Given the description of an element on the screen output the (x, y) to click on. 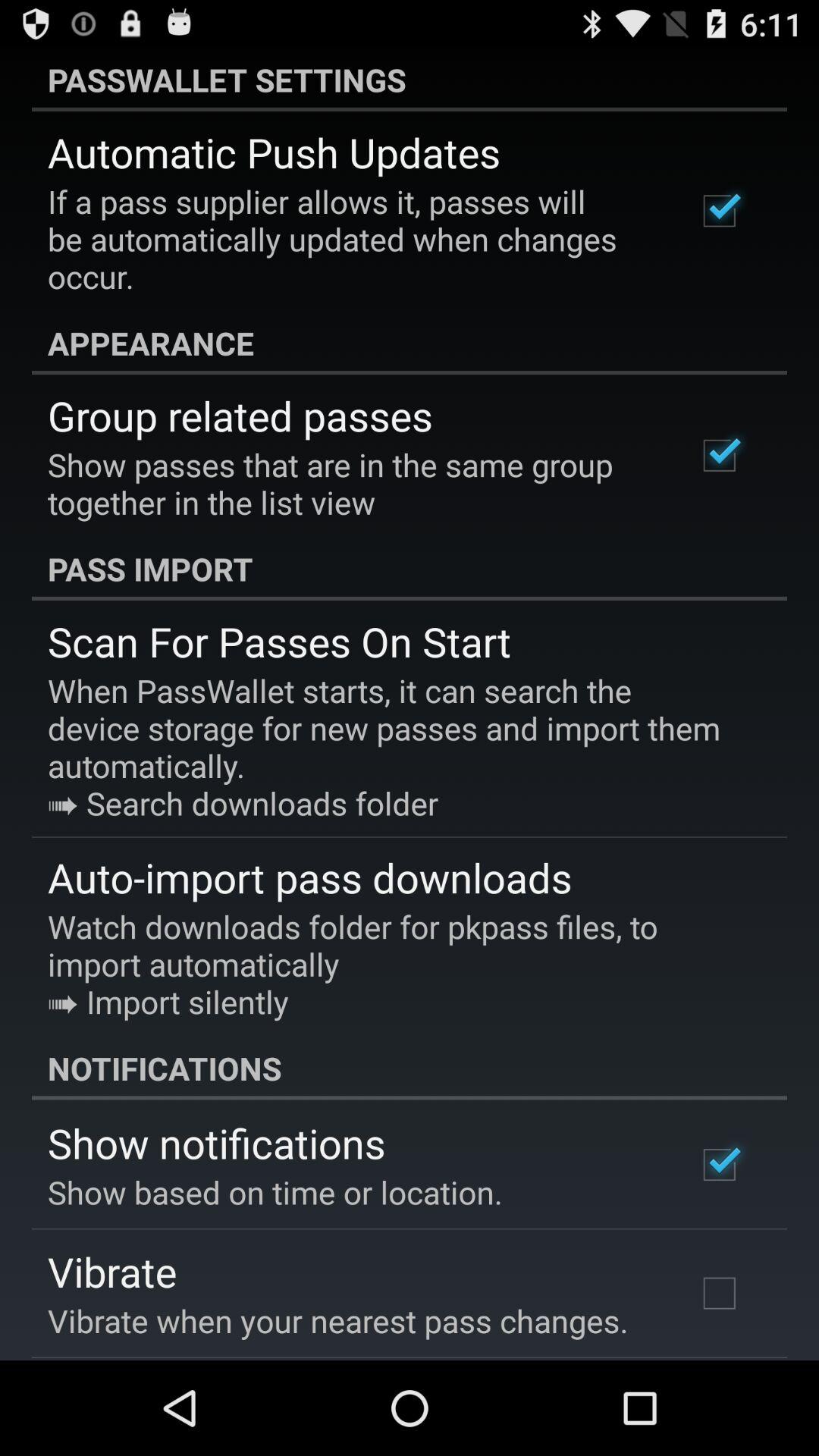
scroll to show based on app (274, 1191)
